Given the description of an element on the screen output the (x, y) to click on. 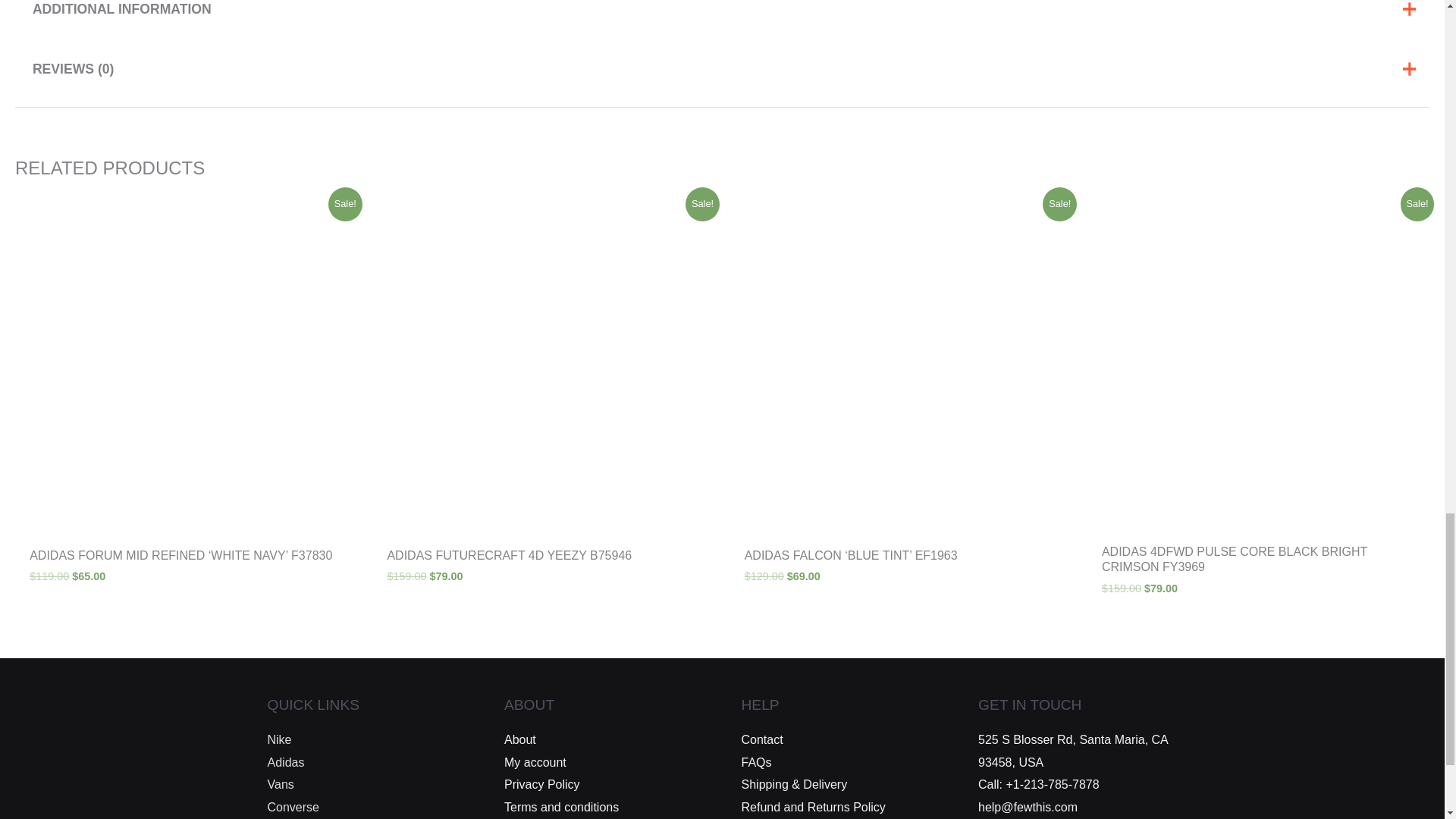
Adidas Forum Mid Refined 'White Navy' F37830 - Shop Now (185, 363)
